Given the description of an element on the screen output the (x, y) to click on. 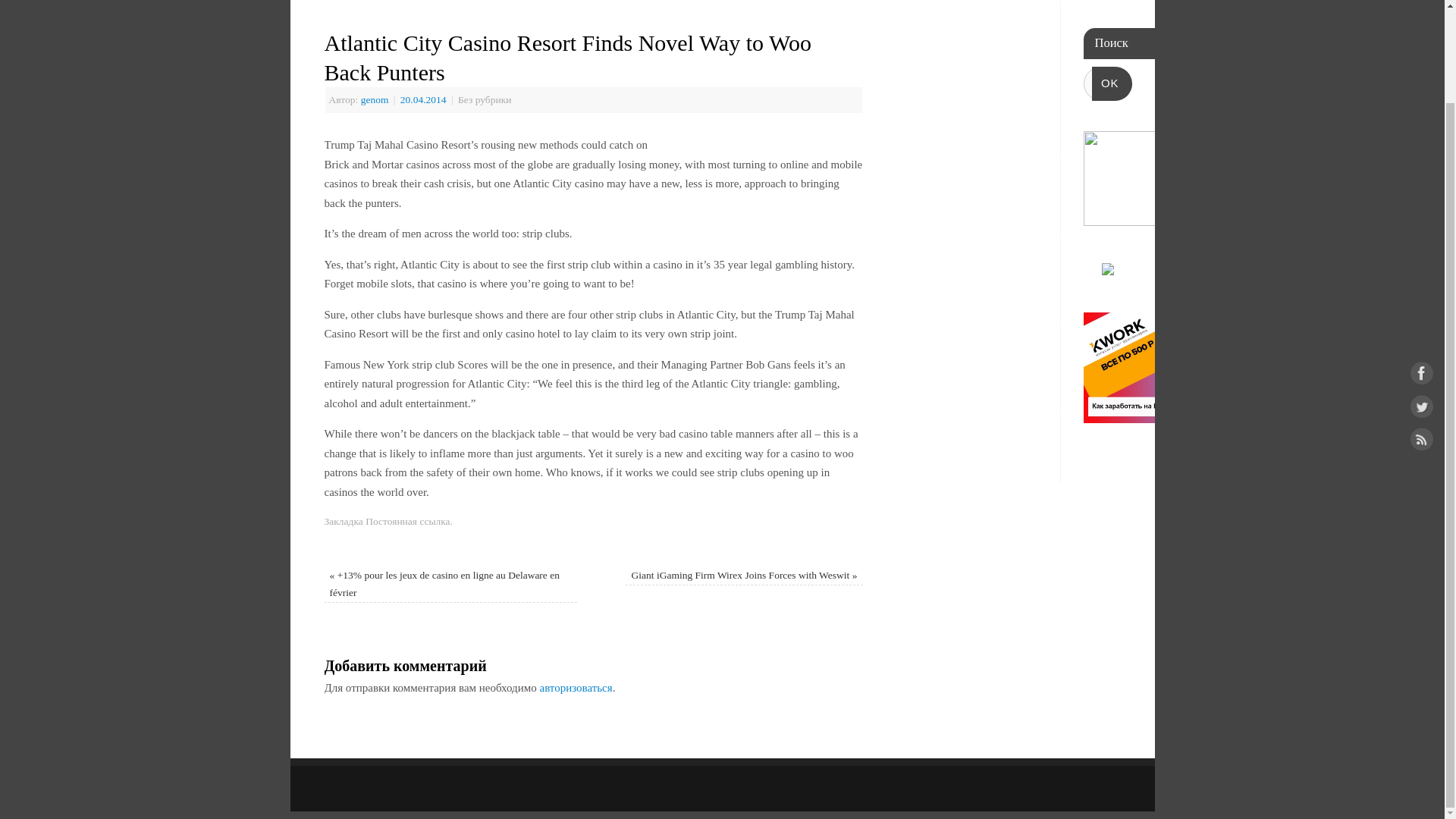
genom (374, 99)
OK (1112, 83)
20.04.2014 (424, 99)
00:53 (424, 99)
